Given the description of an element on the screen output the (x, y) to click on. 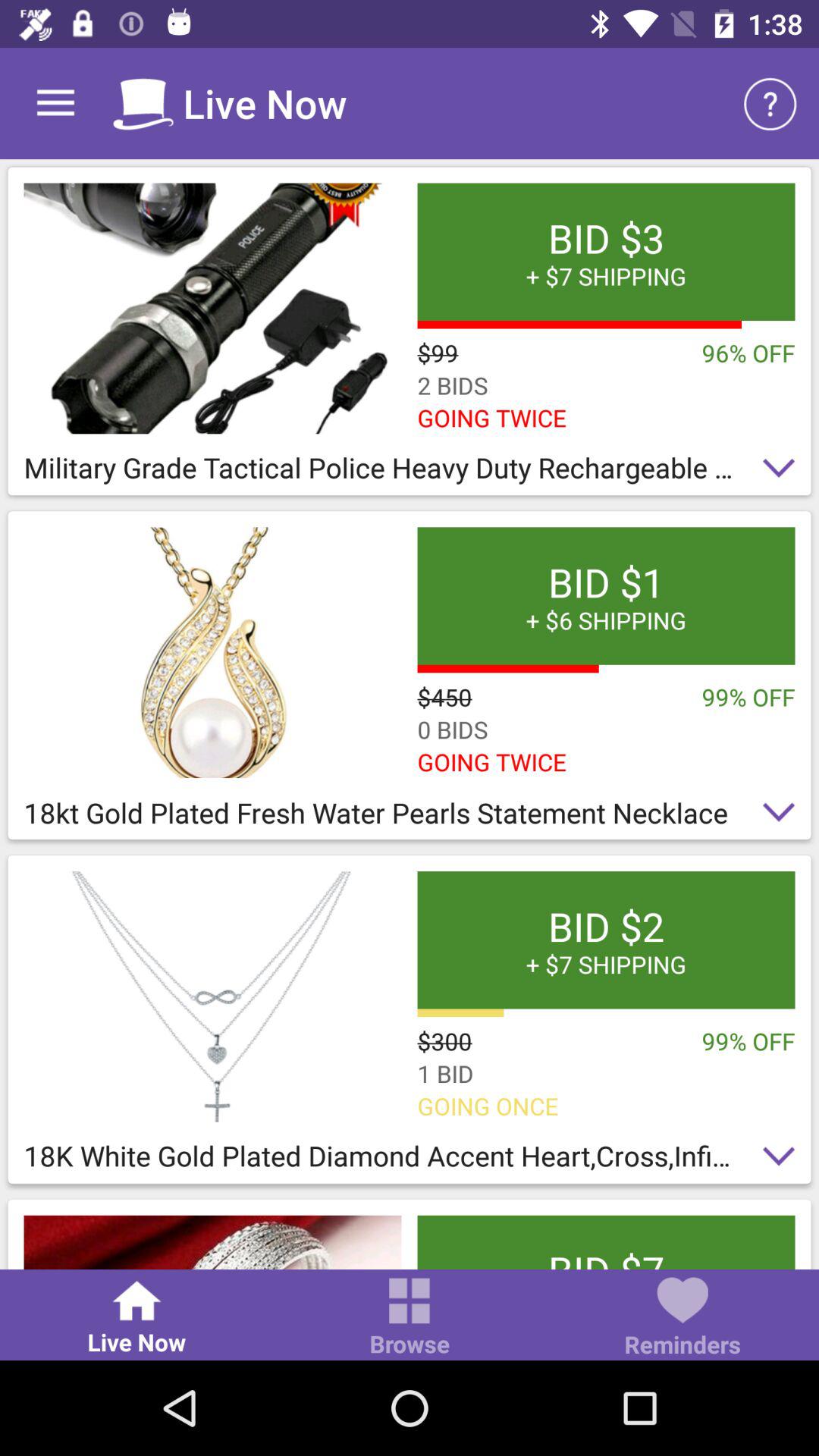
select option (212, 308)
